Given the description of an element on the screen output the (x, y) to click on. 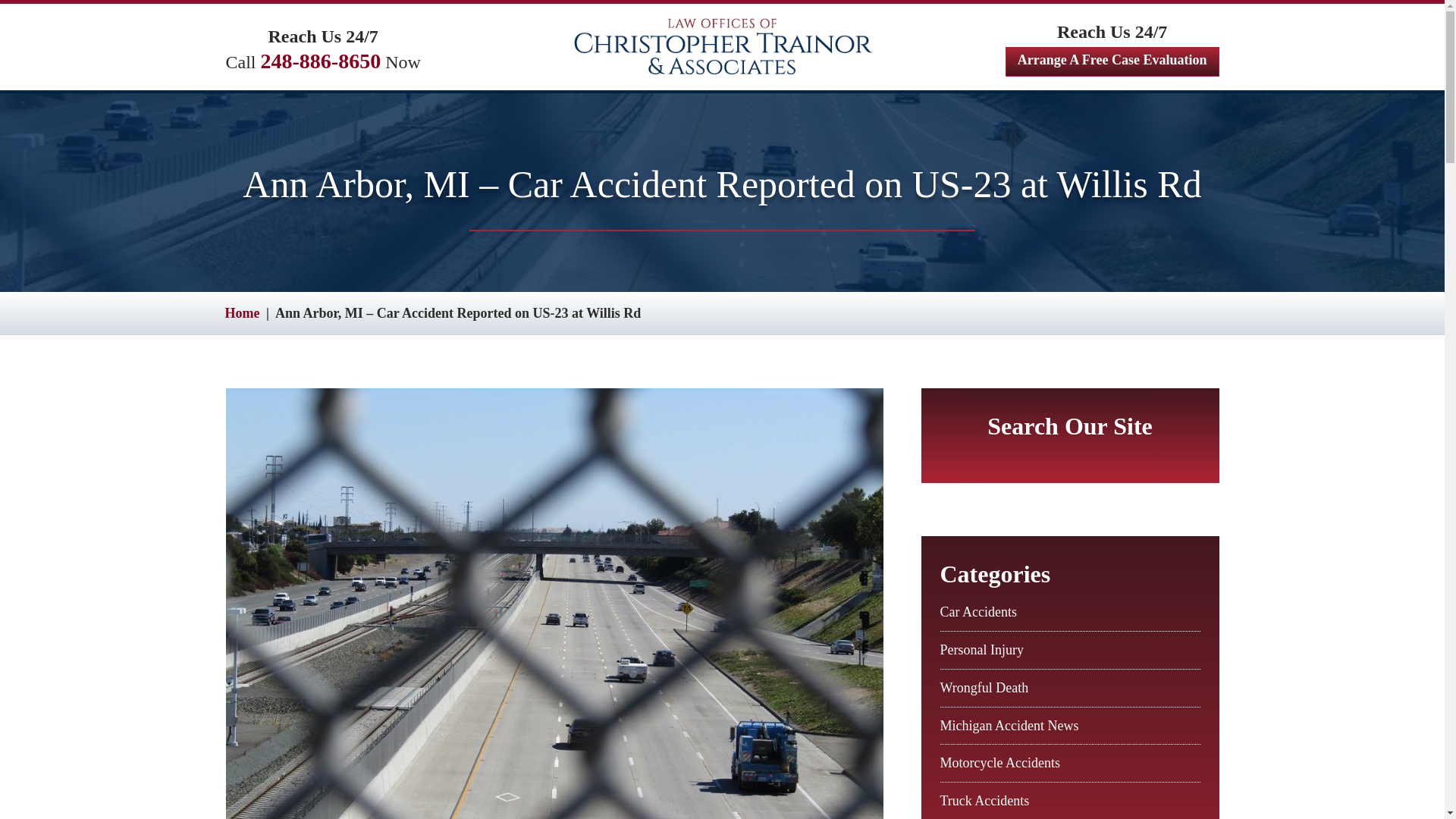
Truck Accidents (984, 800)
Car Accidents (978, 611)
248-886-8650 (320, 60)
Motorcycle Accidents (999, 762)
Michigan Accident News (1009, 725)
Home (241, 313)
Personal Injury (981, 649)
Breadcrumb link to Home (241, 313)
Arrange A Free Case Evaluation (1113, 61)
Wrongful Death (984, 687)
